Given the description of an element on the screen output the (x, y) to click on. 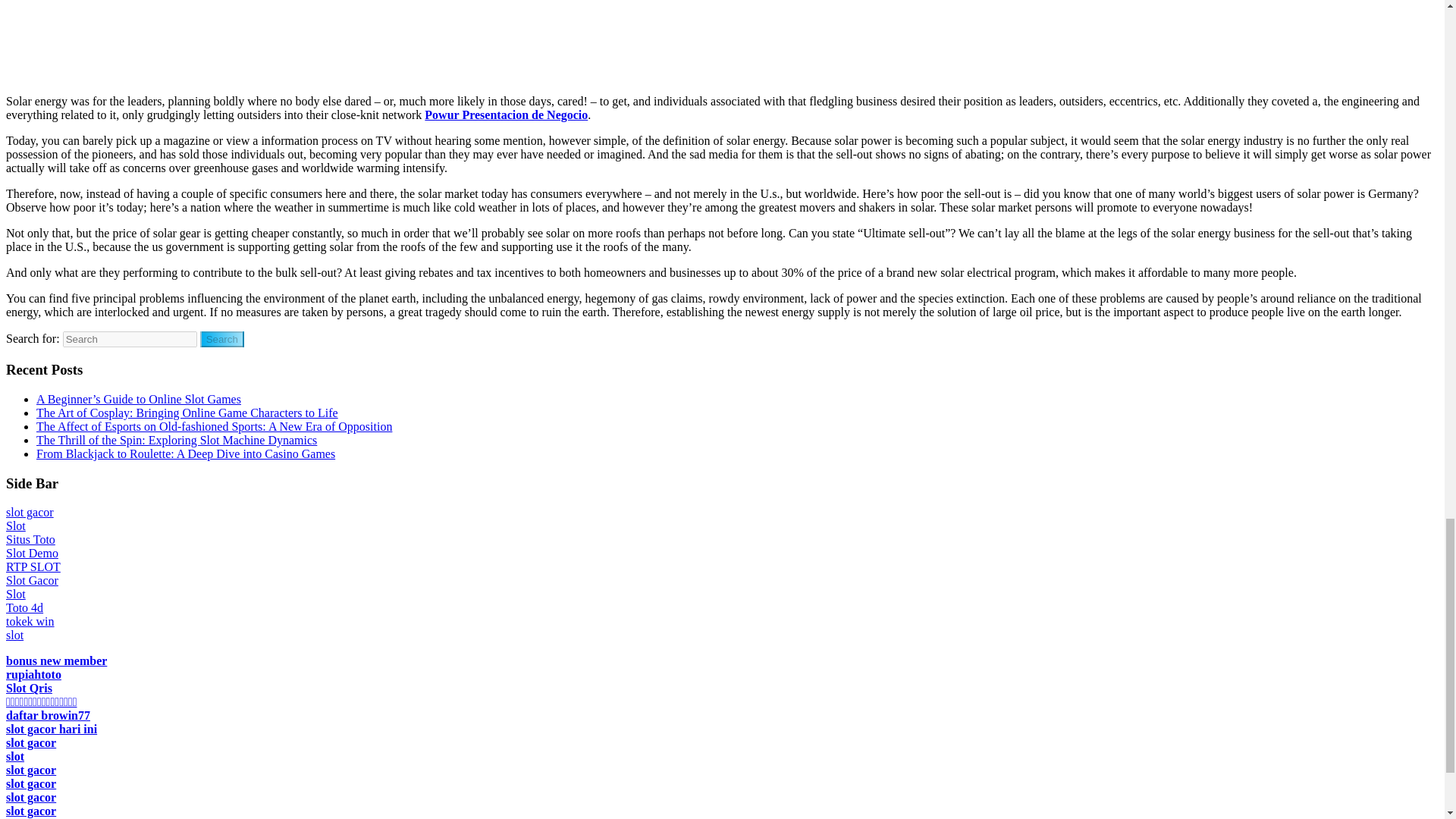
The Art of Cosplay: Bringing Online Game Characters to Life (186, 412)
Slot (15, 594)
From Blackjack to Roulette: A Deep Dive into Casino Games (185, 453)
Search (222, 339)
slot gacor (29, 512)
Powur Presentacion de Negocio (506, 114)
Toto 4d (24, 607)
Search (222, 339)
The Thrill of the Spin: Exploring Slot Machine Dynamics (176, 440)
Slot (15, 525)
tokek win (30, 621)
bonus new member (55, 660)
Slot Demo (31, 553)
Slot Gacor (31, 580)
